Given the description of an element on the screen output the (x, y) to click on. 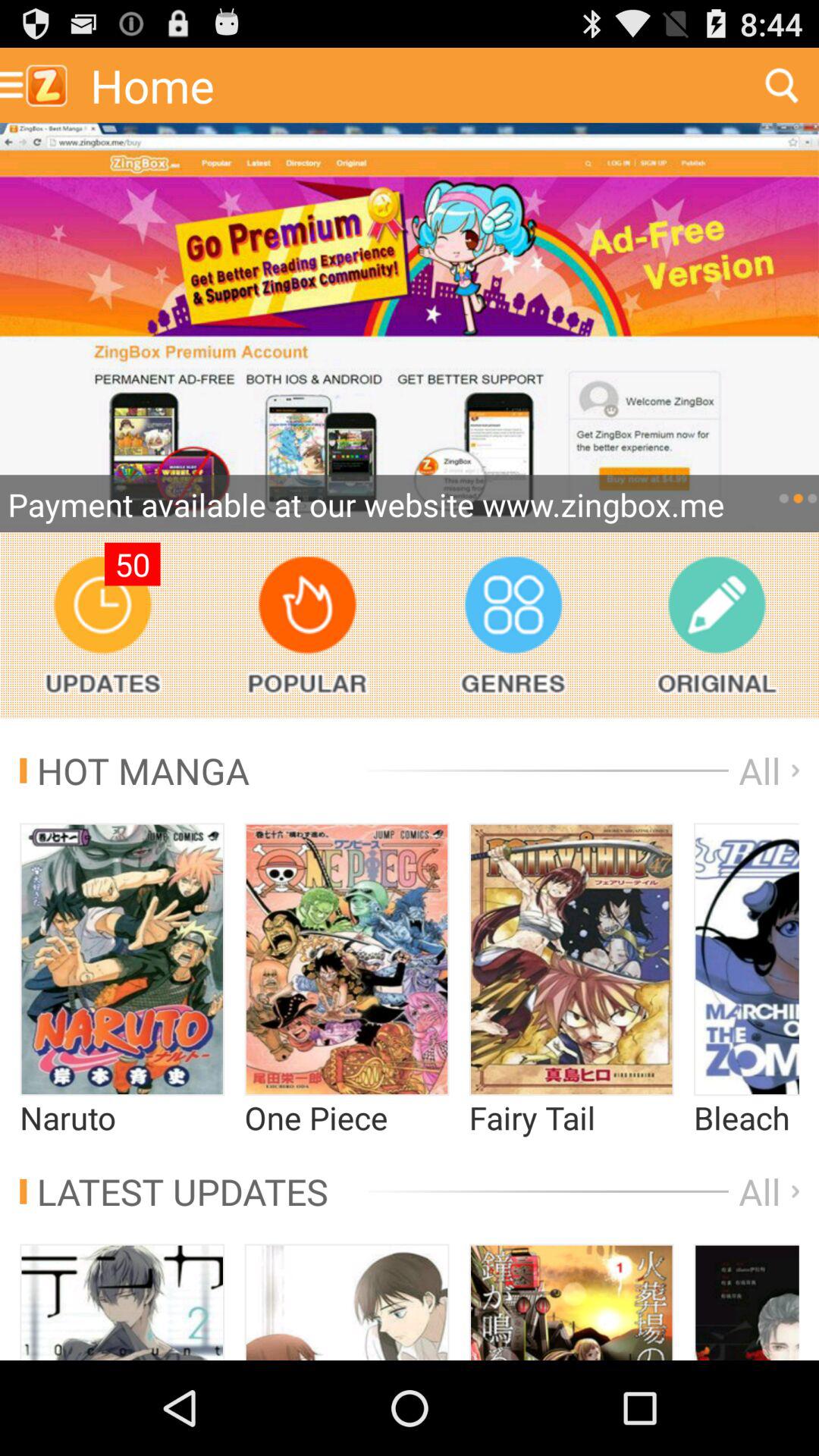
click the item to the left of all app (173, 1191)
